Given the description of an element on the screen output the (x, y) to click on. 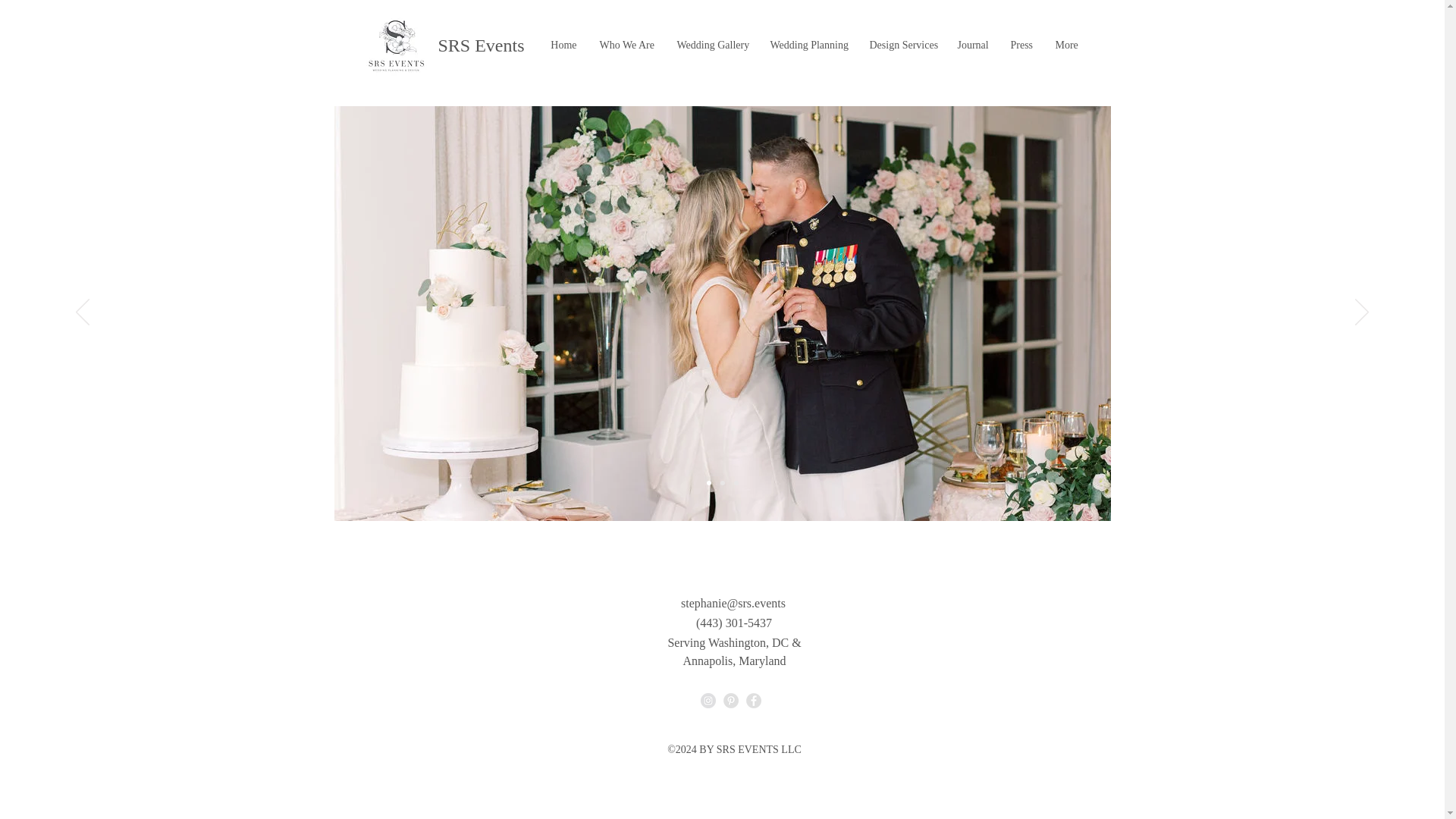
Press (1020, 45)
Design Services (902, 45)
Wedding Planning (807, 45)
Home (563, 45)
Who We Are (626, 45)
Wedding Gallery (711, 45)
SRS Events (395, 45)
Journal (972, 45)
